Given the description of an element on the screen output the (x, y) to click on. 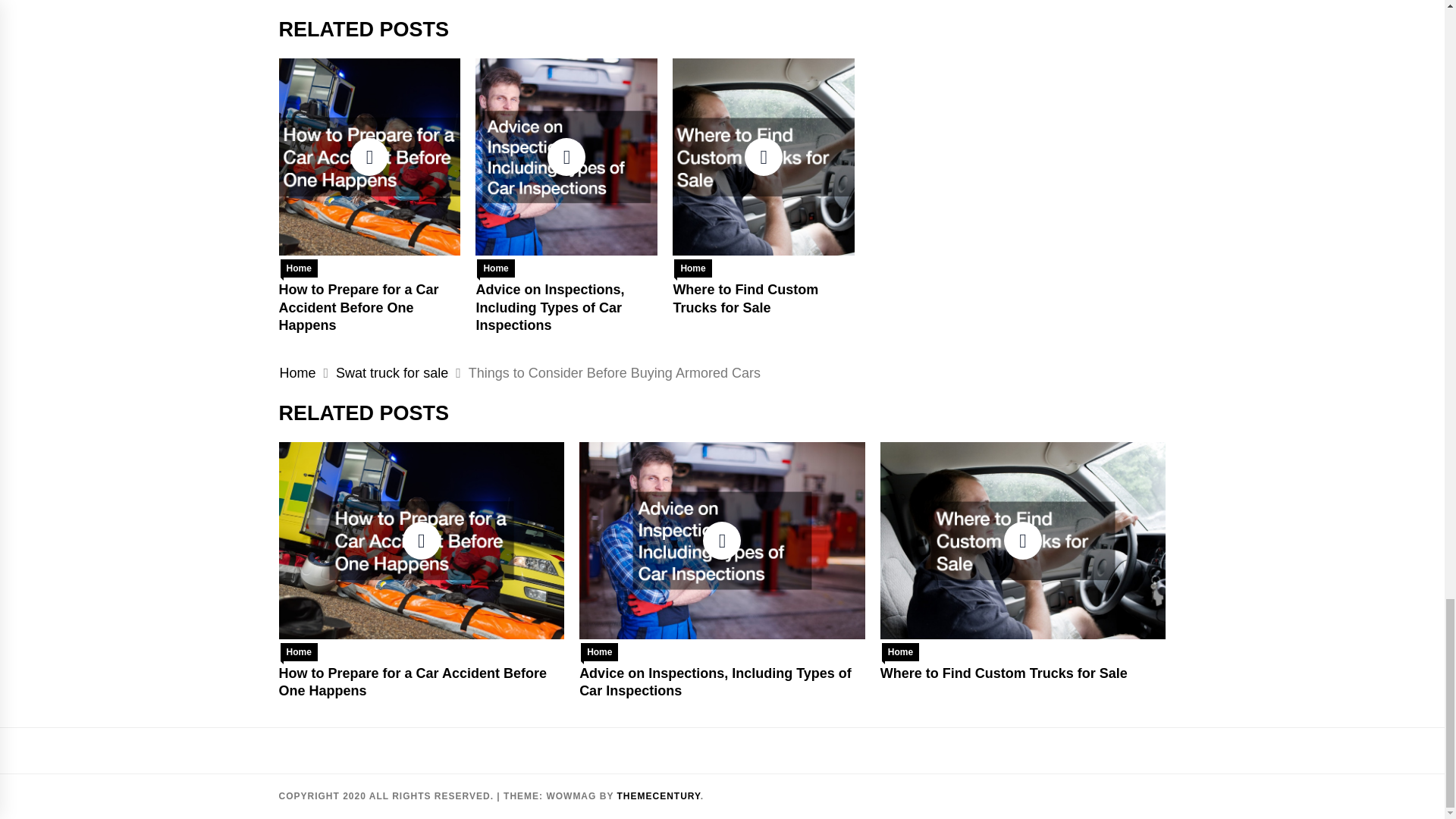
Home (598, 651)
Where to Find Custom Trucks for Sale (745, 297)
How to Prepare for a Car Accident Before One Happens (359, 306)
Home (299, 268)
Swat truck for sale (392, 372)
Advice on Inspections, Including Types of Car Inspections (550, 306)
How to Prepare for a Car Accident Before One Happens (413, 681)
Home (495, 268)
Home (297, 372)
Home (299, 651)
Home (692, 268)
